Given the description of an element on the screen output the (x, y) to click on. 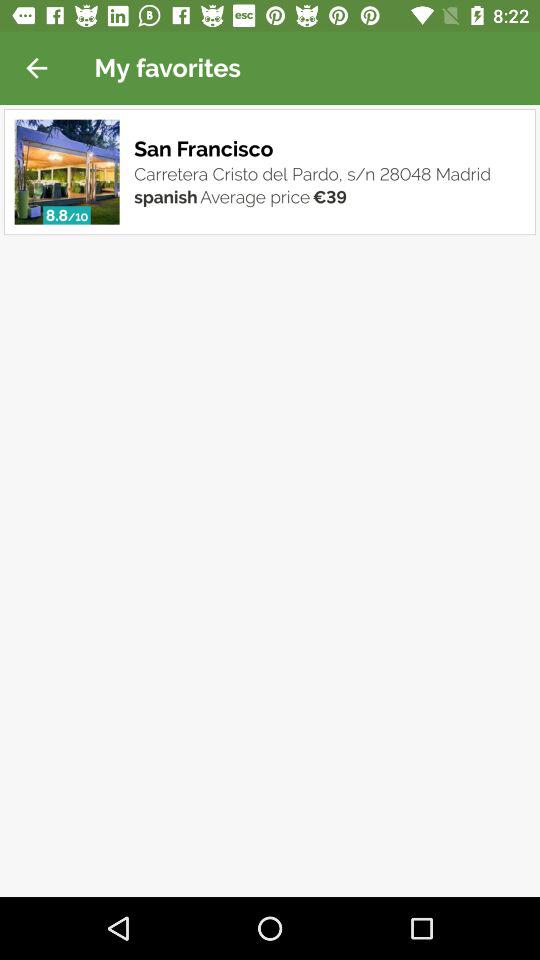
press item next to san francisco (66, 171)
